Given the description of an element on the screen output the (x, y) to click on. 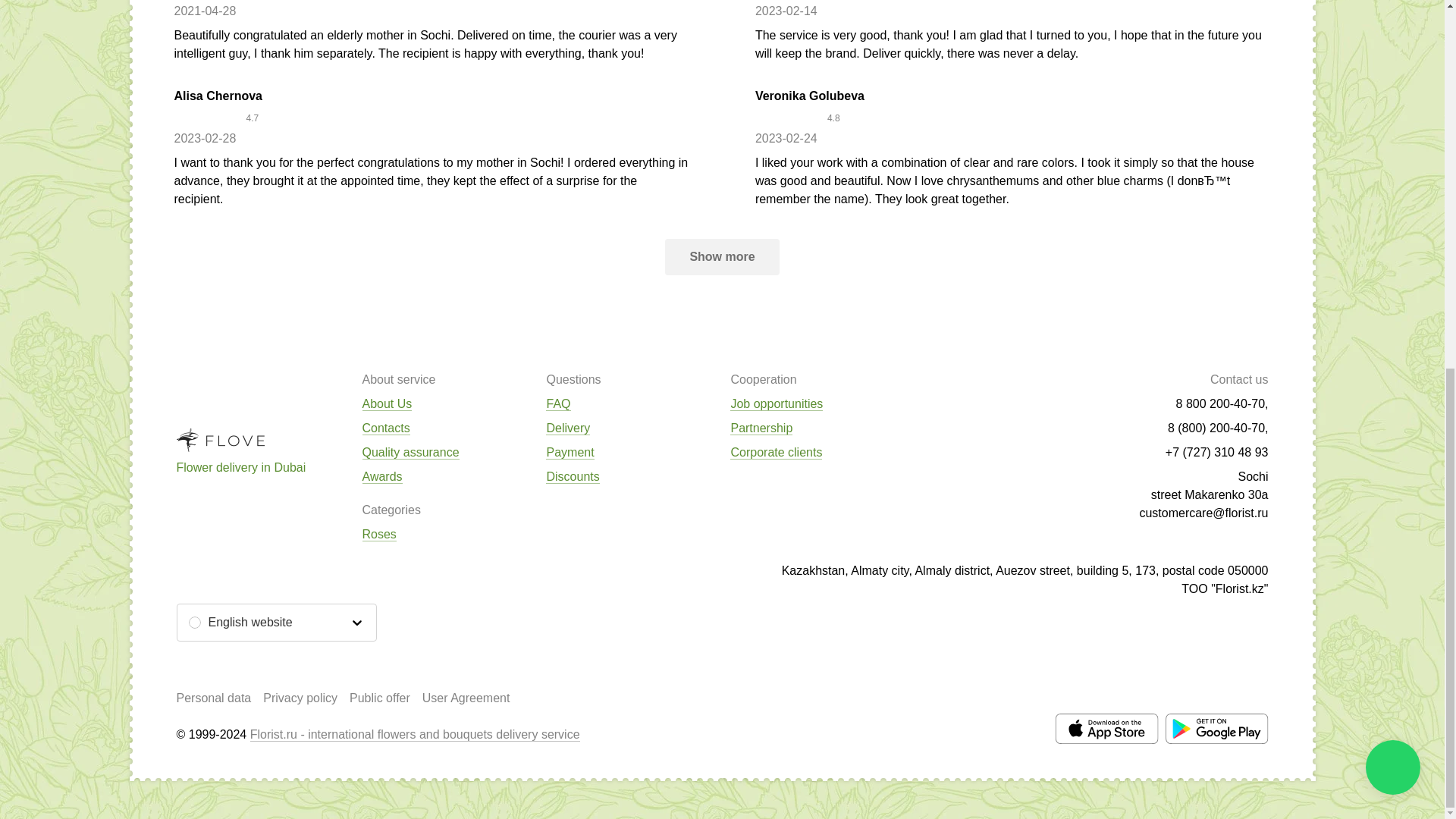
Delivery (567, 427)
Payment (570, 451)
Job opportunities (776, 403)
Flower delivery in Dubai (240, 467)
Show more (721, 257)
Awards (382, 476)
Discounts (572, 476)
FAQ (558, 403)
Contacts (386, 427)
Quality assurance (411, 451)
